Given the description of an element on the screen output the (x, y) to click on. 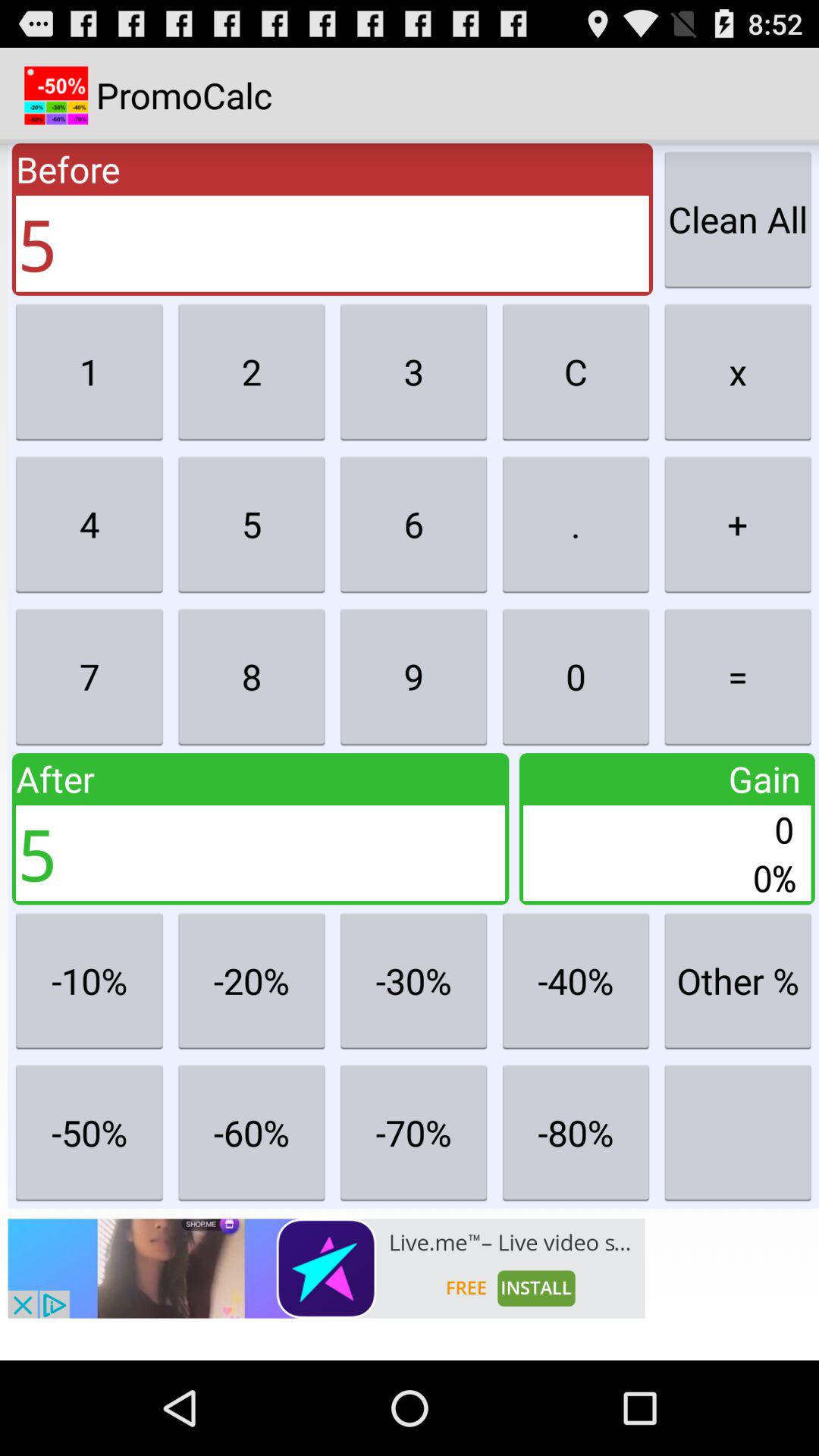
calculator (737, 1132)
